Given the description of an element on the screen output the (x, y) to click on. 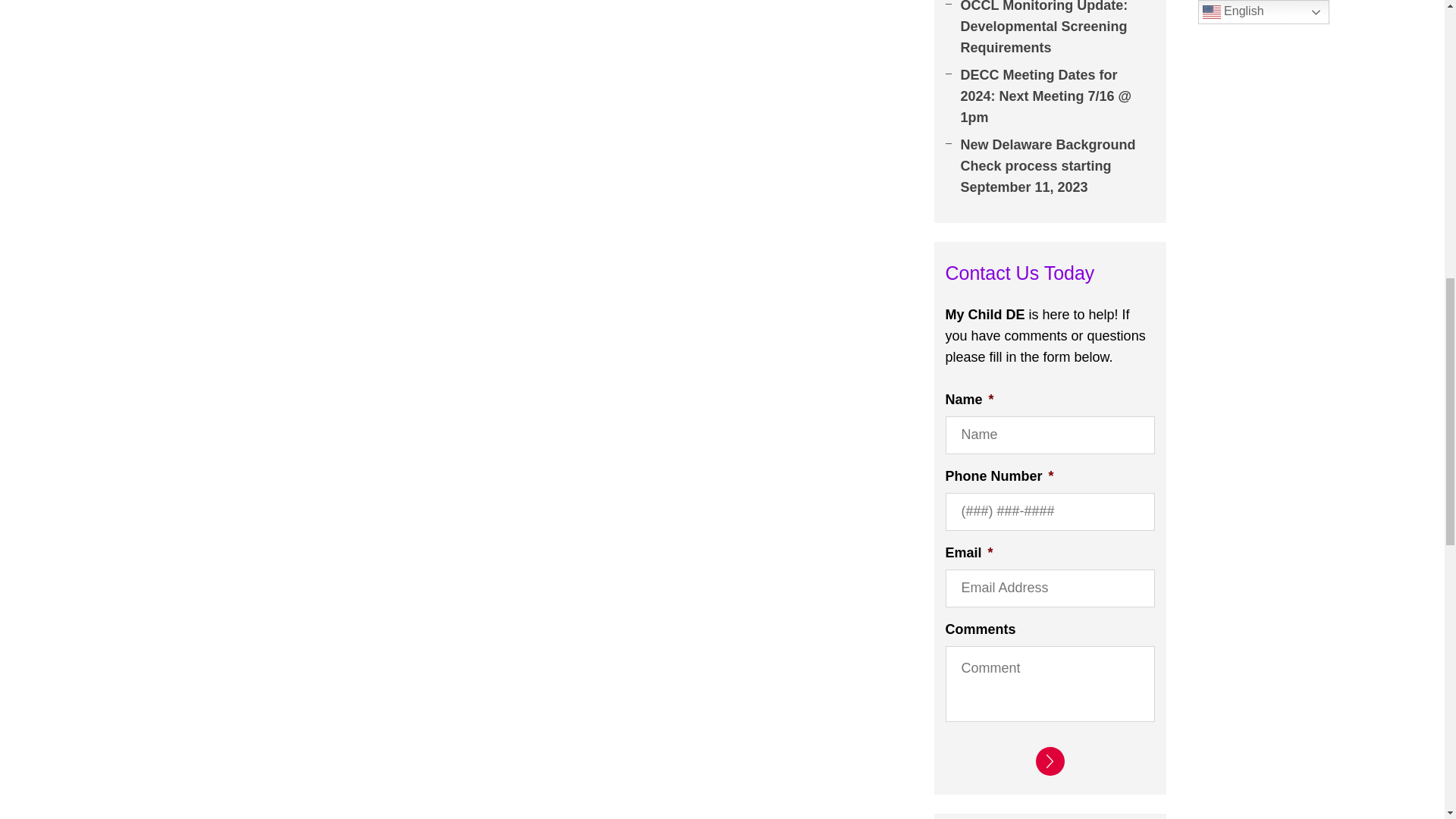
Submit (1049, 760)
